Given the description of an element on the screen output the (x, y) to click on. 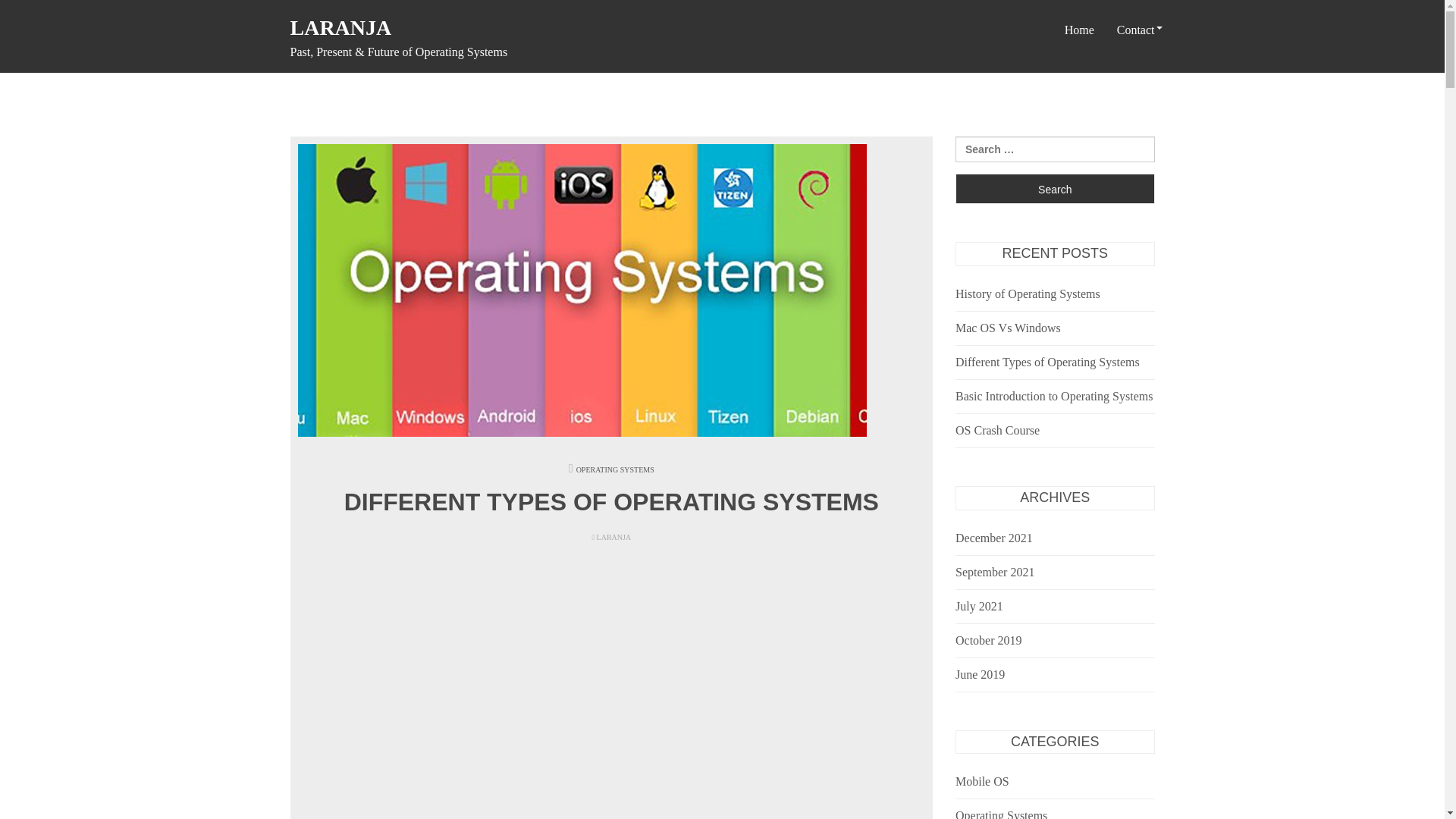
Advertising Contact (1165, 100)
LARANJA (340, 27)
Search (1054, 188)
Search (1054, 188)
Contact (1135, 30)
OPERATING SYSTEMS (614, 470)
Advertising Contact (1165, 100)
Home (1078, 30)
DIFFERENT TYPES OF OPERATING SYSTEMS (611, 501)
